Given the description of an element on the screen output the (x, y) to click on. 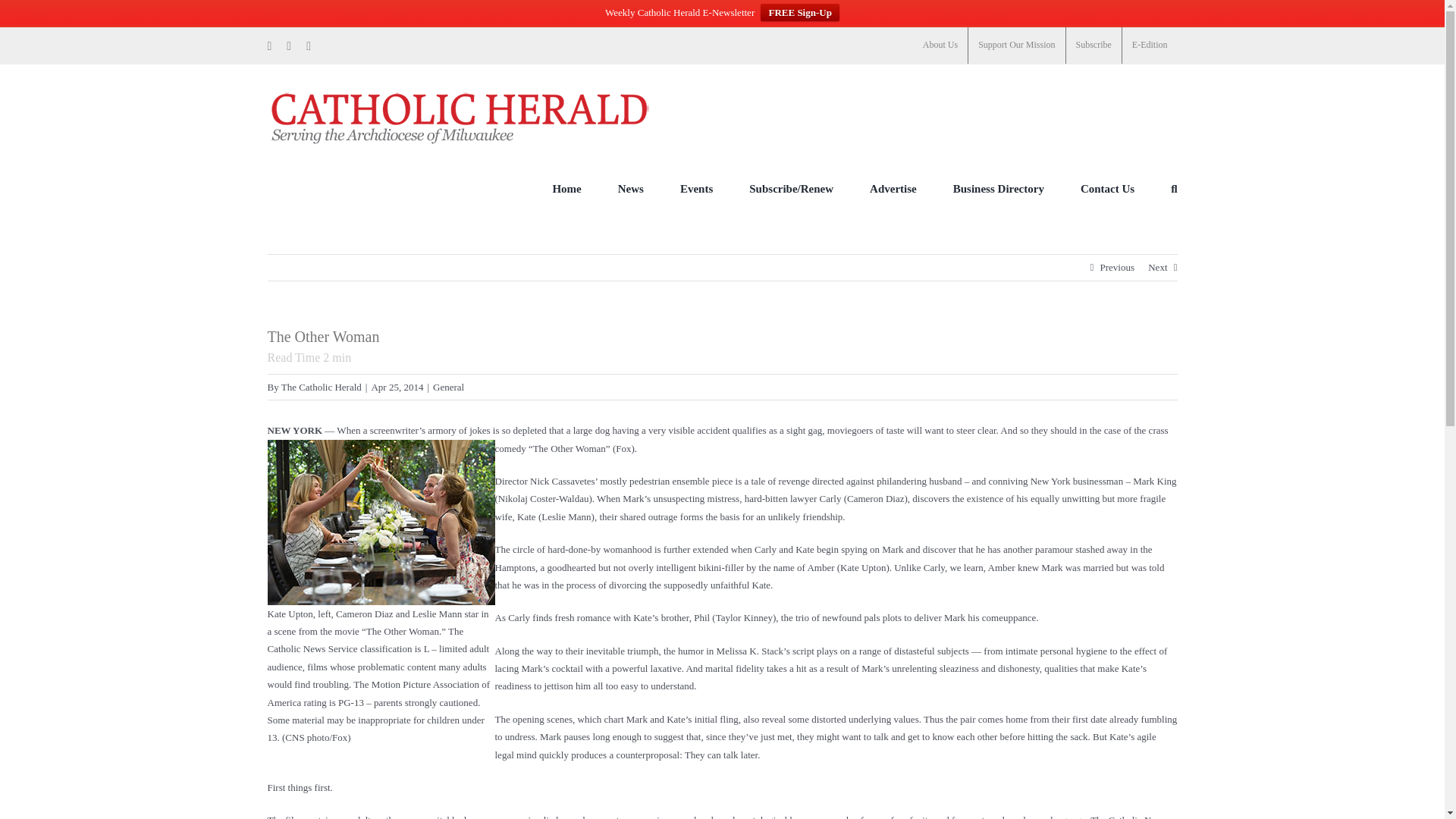
E-Edition (1149, 45)
Contact Us (1107, 188)
Support Our Mission (1016, 45)
Posts by The Catholic Herald (321, 387)
Business Directory (998, 188)
About Us (940, 45)
Advertise (893, 188)
FREE Sign-Up (799, 12)
Subscribe (1093, 45)
